Given the description of an element on the screen output the (x, y) to click on. 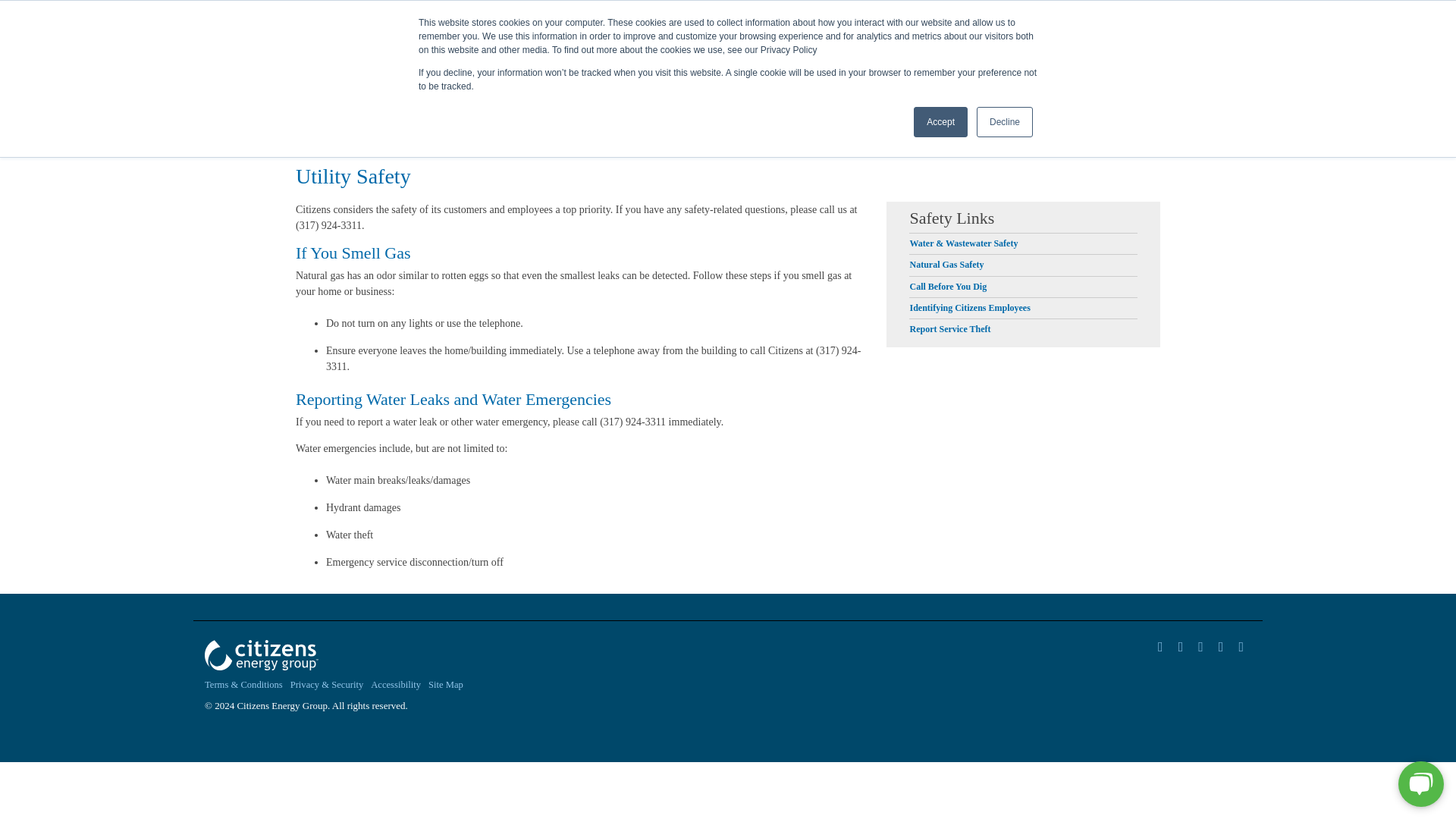
My Account (964, 52)
Partner Resources (1134, 52)
Decline (1004, 122)
Accept (941, 122)
Contact Us (771, 10)
Our Company (1223, 52)
Utility Services (1043, 52)
